Given the description of an element on the screen output the (x, y) to click on. 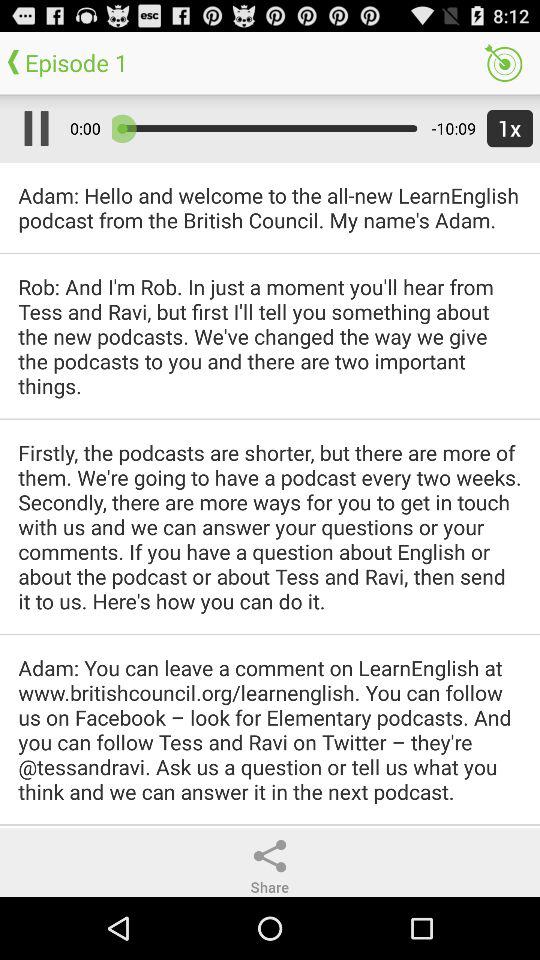
turn on the item next to the episode 1 (503, 62)
